Given the description of an element on the screen output the (x, y) to click on. 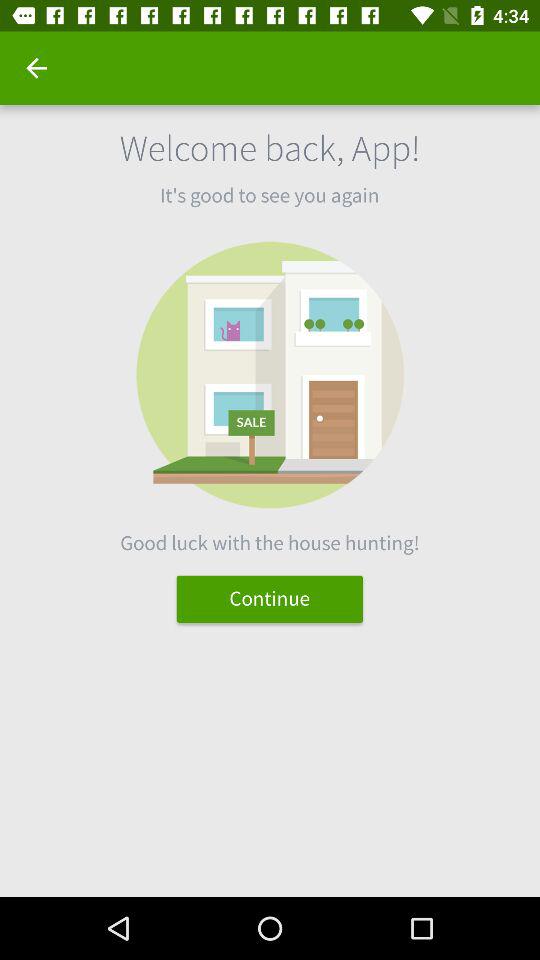
select the icon below the good luck with item (269, 598)
